Given the description of an element on the screen output the (x, y) to click on. 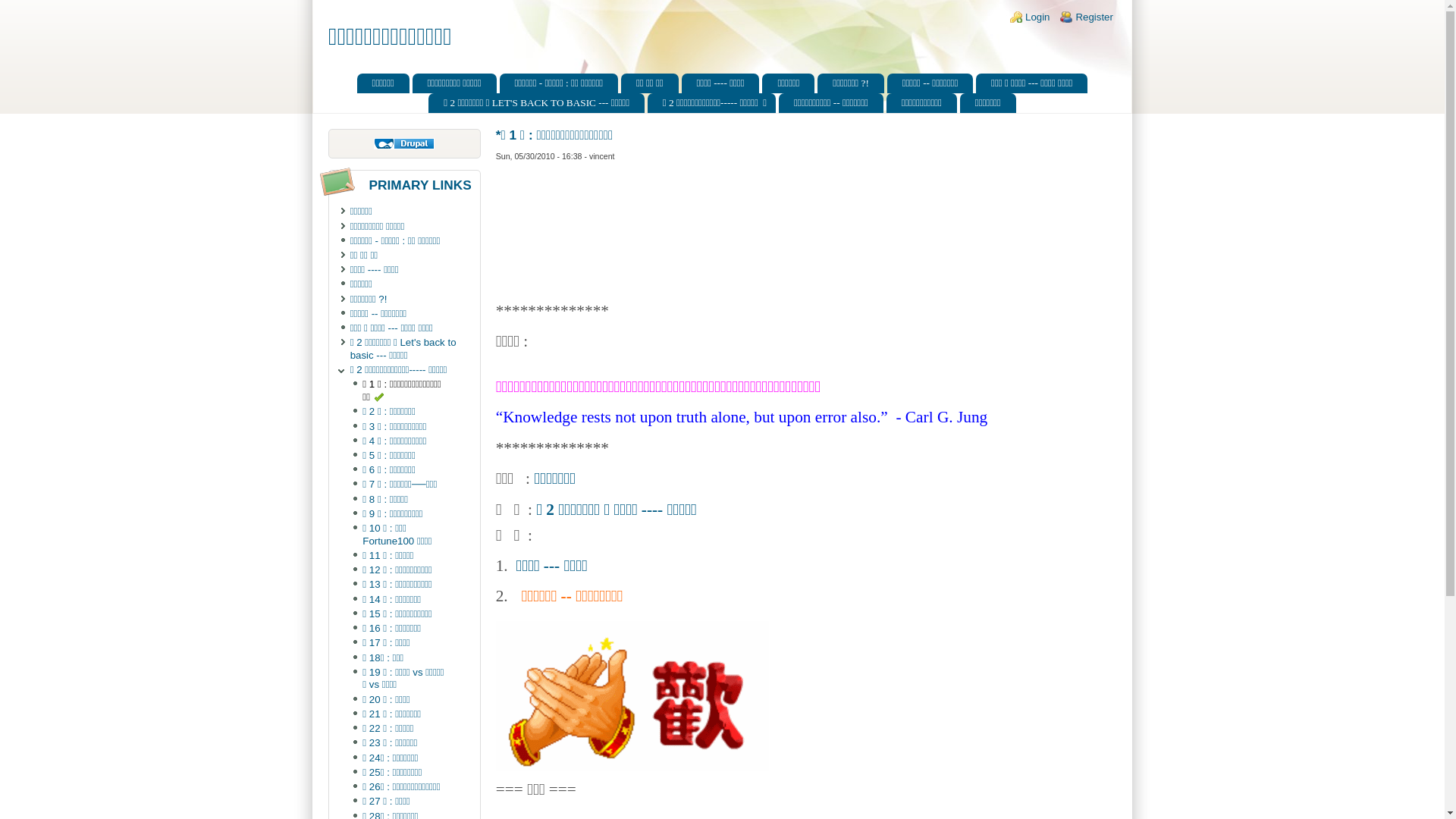
Skip to search Element type: text (31, 0)
Skip to main content Element type: text (45, 0)
Login Element type: text (1037, 16)
Powered by Drupal, an open source content management system Element type: hover (403, 143)
Register Element type: text (1093, 16)
